Given the description of an element on the screen output the (x, y) to click on. 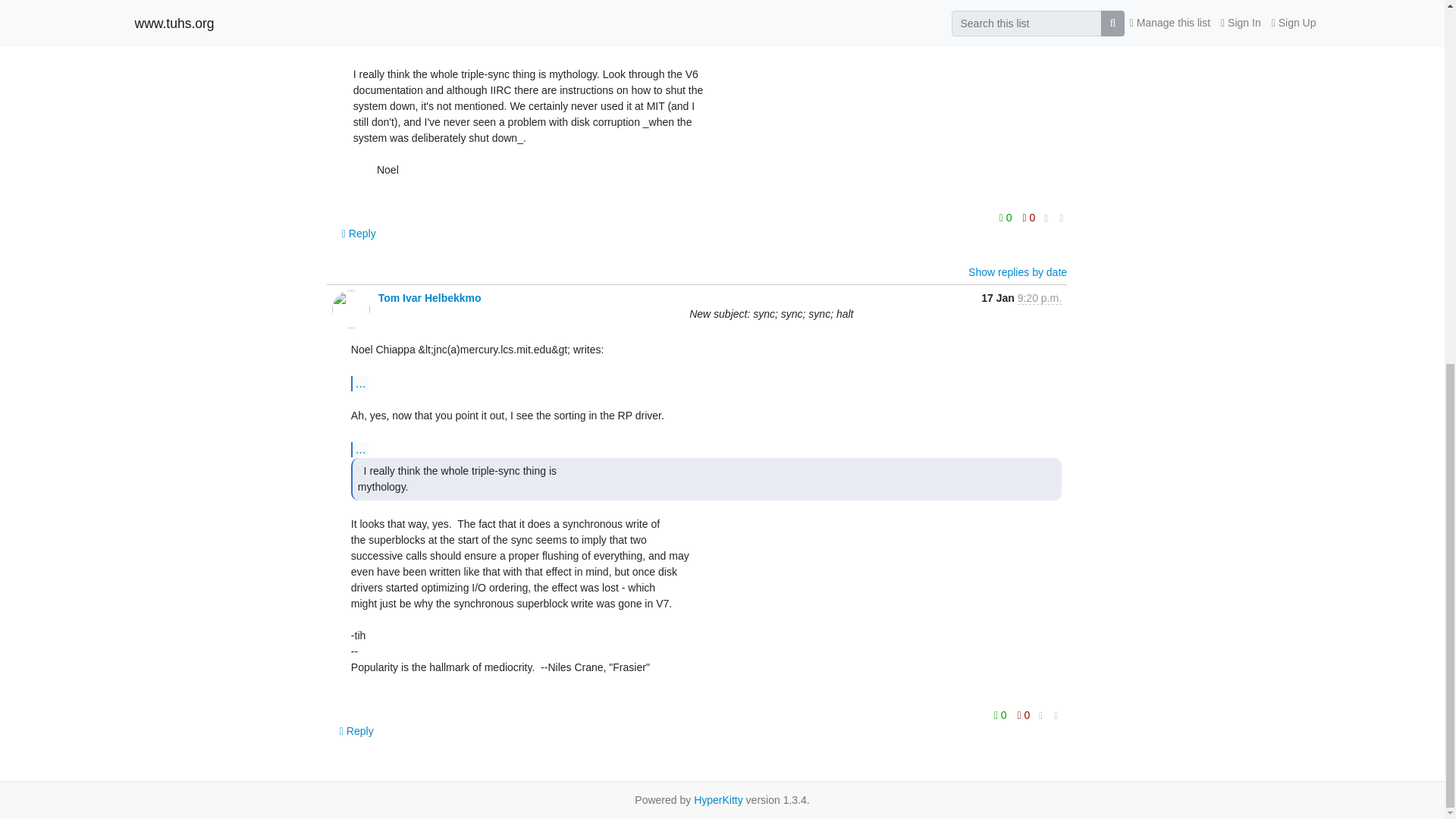
Sign in to reply online (356, 730)
You must be logged-in to vote. (1029, 217)
You must be logged-in to vote. (1007, 217)
Sign in to reply online (359, 233)
You must be logged-in to vote. (1023, 714)
See the profile for Tom Ivar Helbekkmo (429, 297)
You must be logged-in to vote. (1001, 714)
Sender's time: Jan. 17, 2015, 10:20 p.m. (1039, 297)
